Given the description of an element on the screen output the (x, y) to click on. 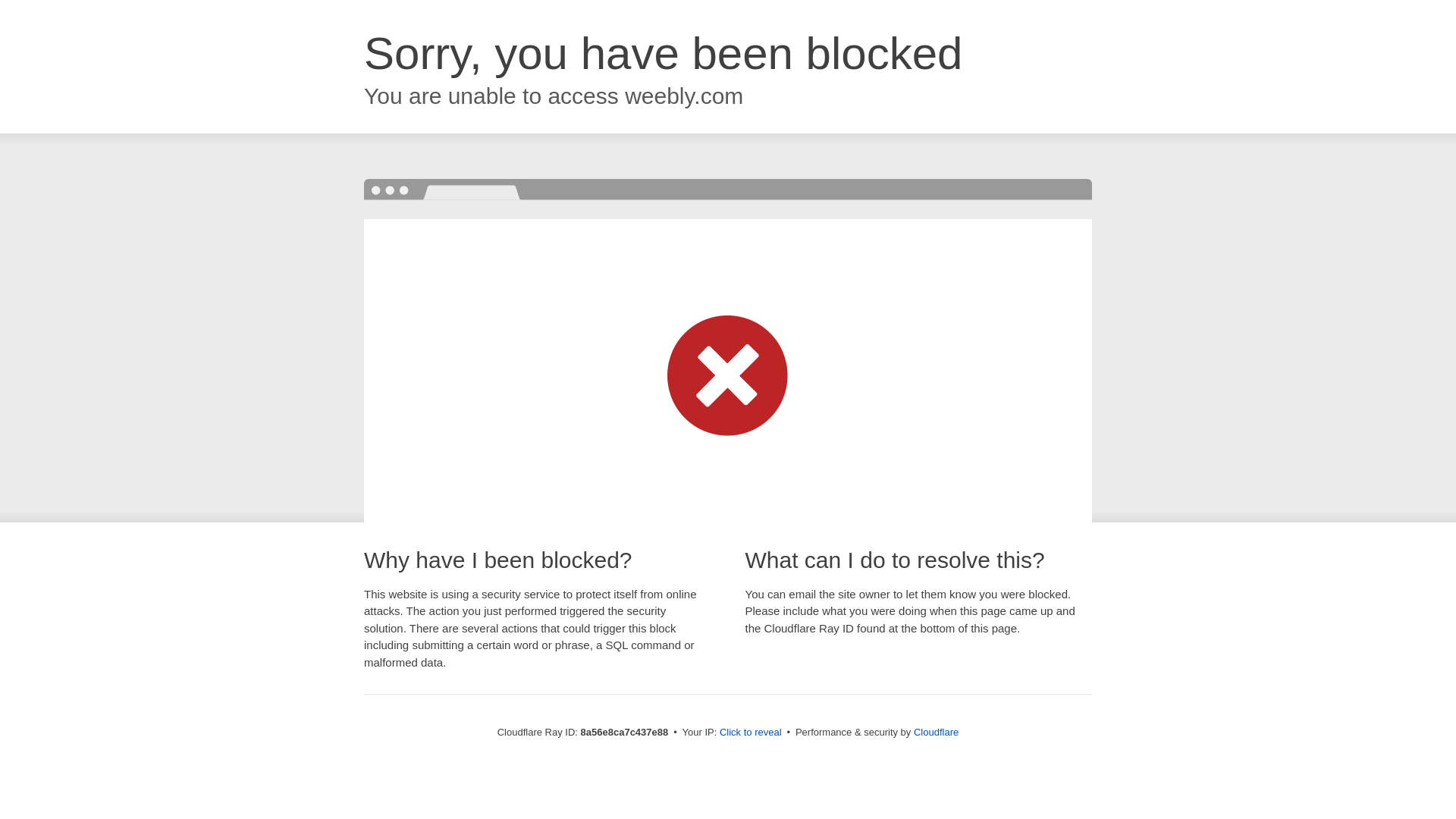
Cloudflare (936, 731)
Click to reveal (750, 732)
